Given the description of an element on the screen output the (x, y) to click on. 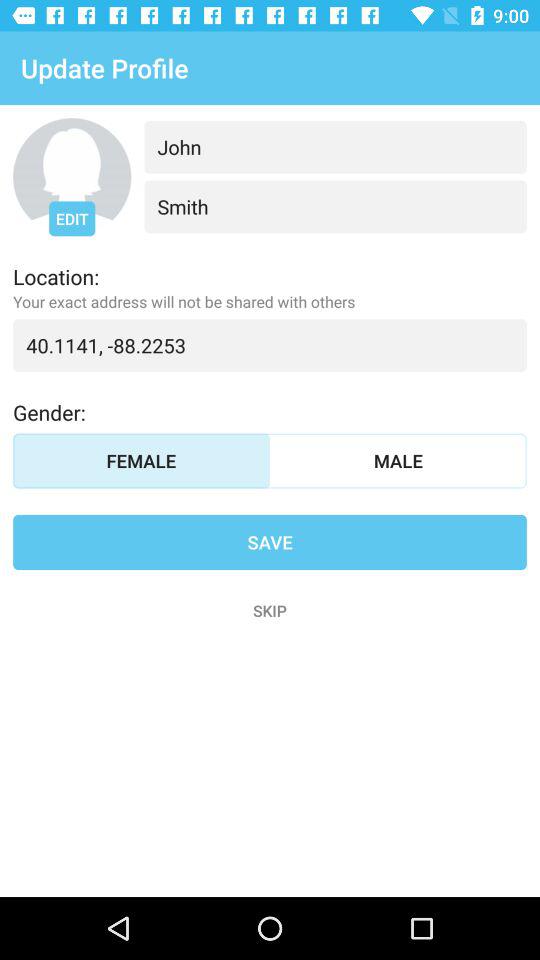
profile picture edit button (72, 177)
